Given the description of an element on the screen output the (x, y) to click on. 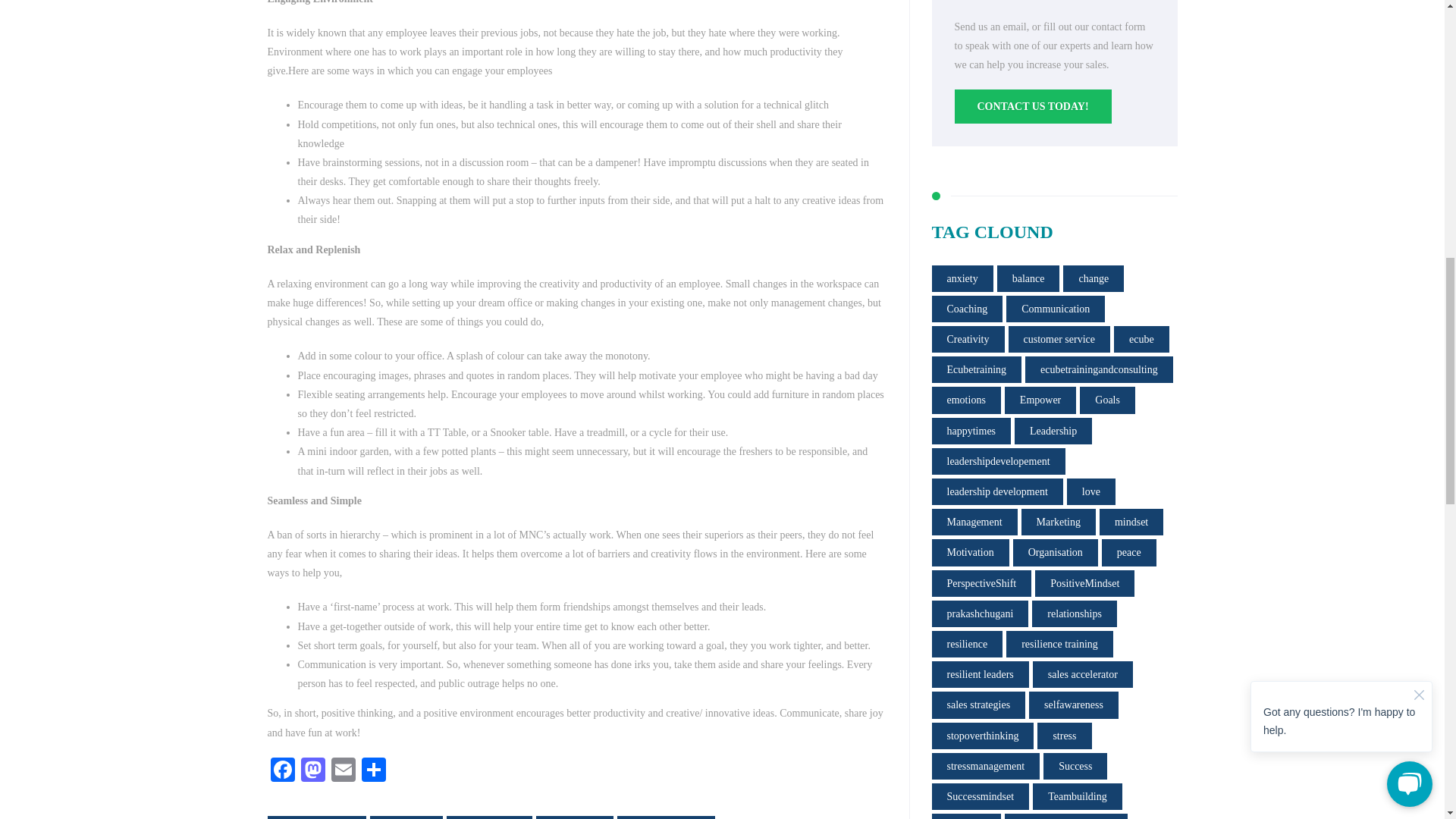
Facebook (281, 771)
Mastodon (312, 771)
Email (342, 771)
